Given the description of an element on the screen output the (x, y) to click on. 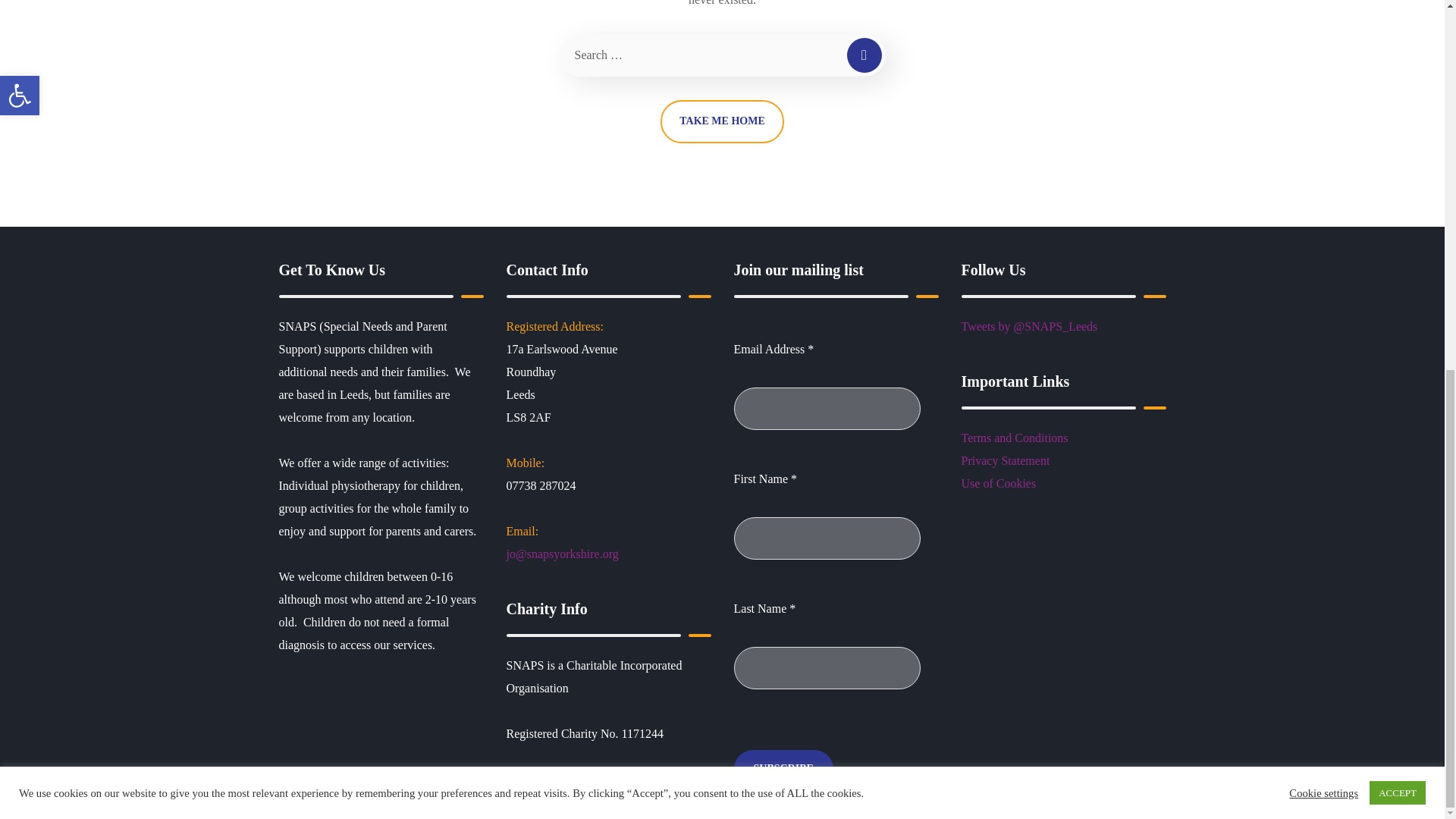
Subscribe (782, 768)
